Given the description of an element on the screen output the (x, y) to click on. 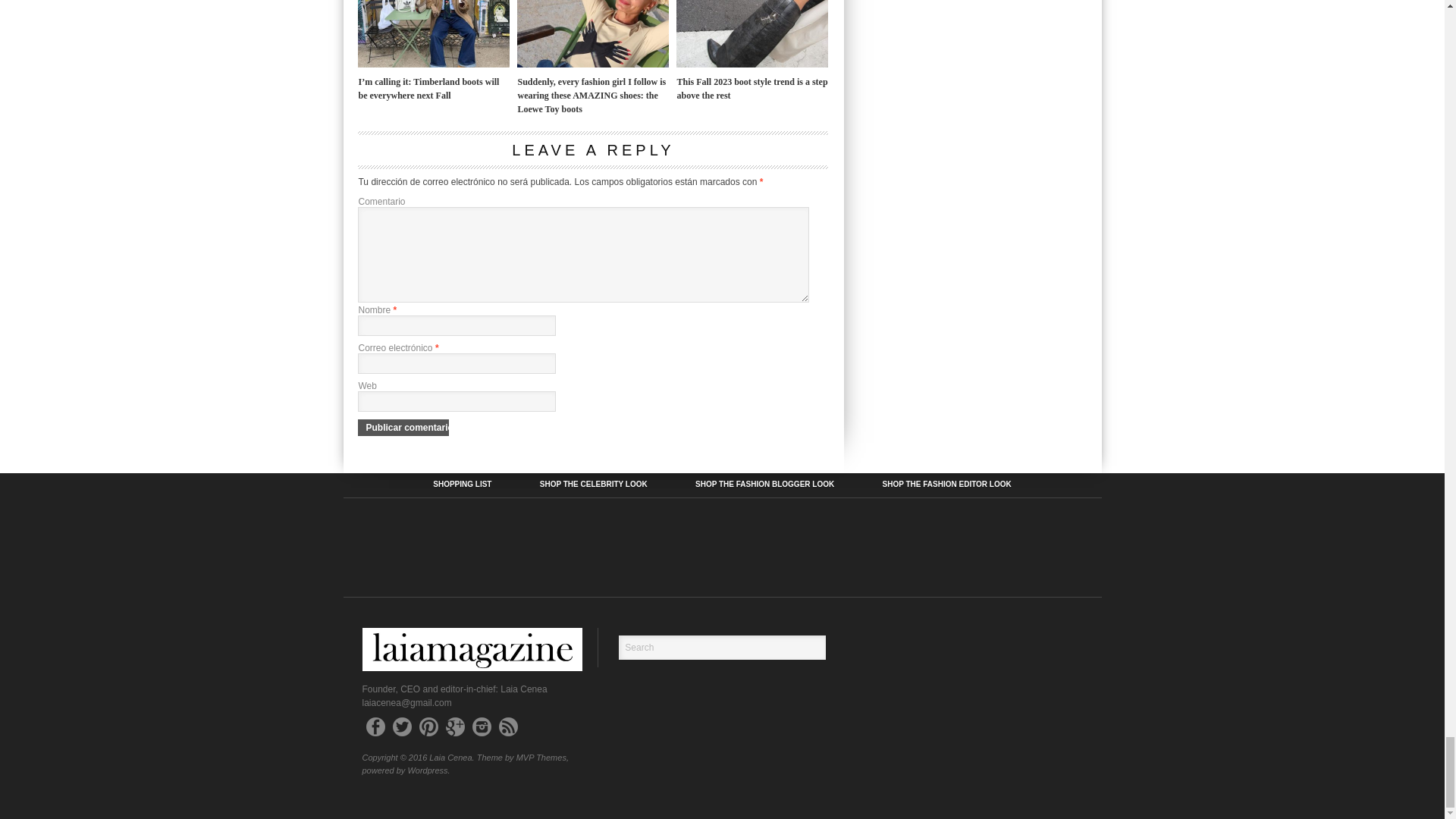
Search (721, 647)
Publicar comentario (403, 427)
